Given the description of an element on the screen output the (x, y) to click on. 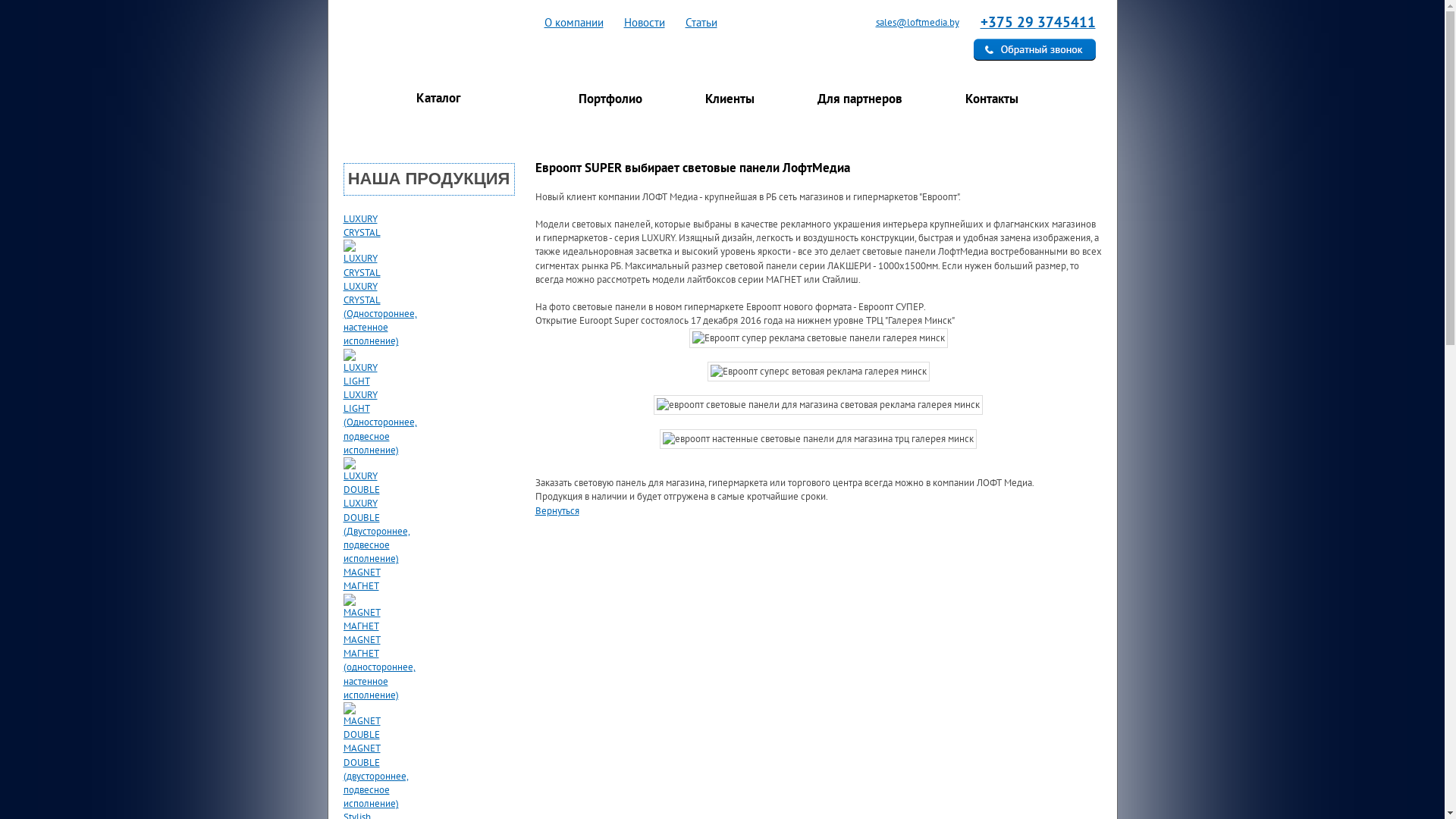
LUXURY CRYSTAL Element type: text (360, 225)
sales@loftmedia.by Element type: text (908, 21)
+375 29 3745411 Element type: text (1037, 21)
